Given the description of an element on the screen output the (x, y) to click on. 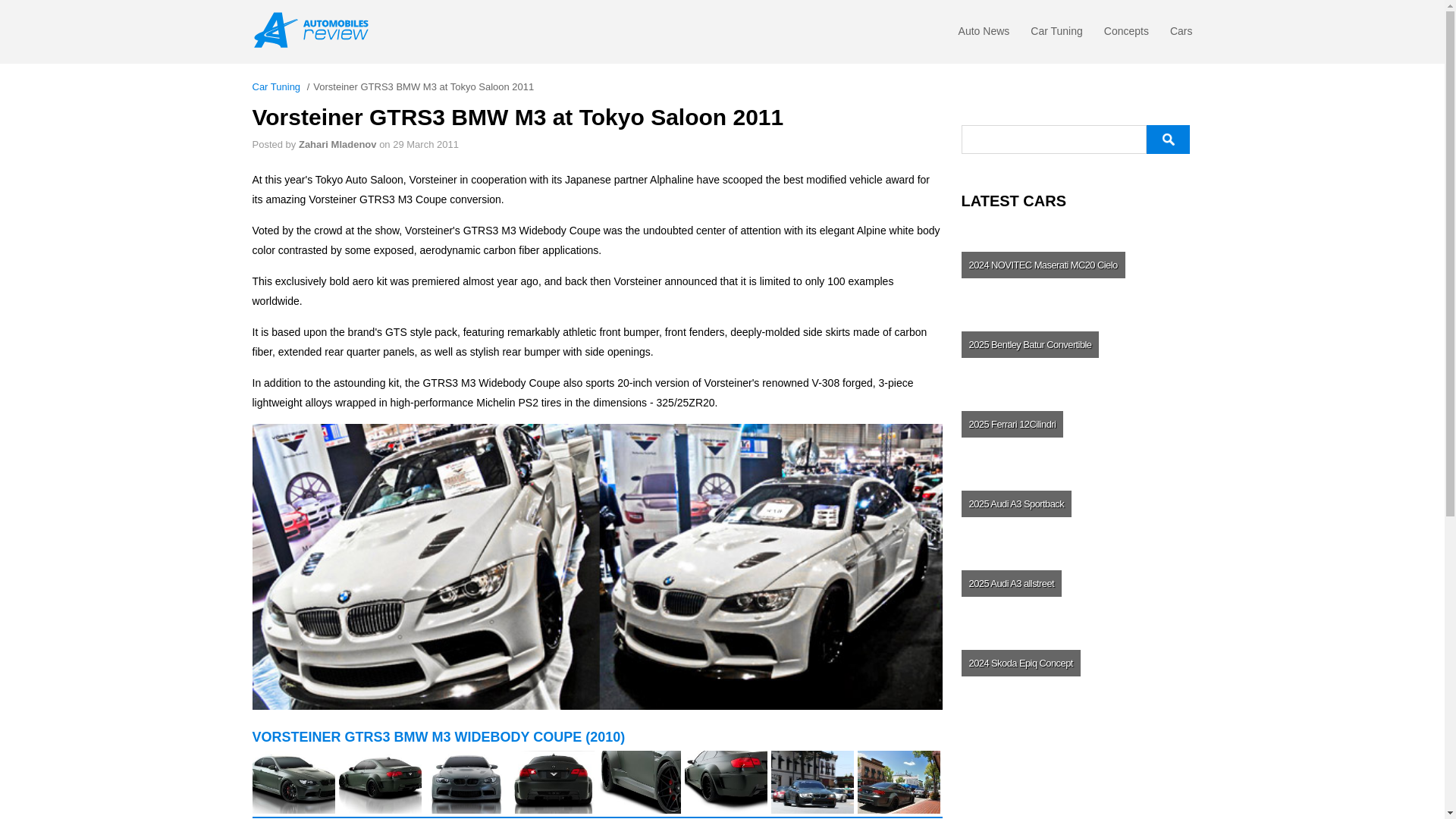
Concepts (1125, 35)
Audi A3 allstreet (1074, 582)
Cars (1181, 35)
Cars (1181, 35)
LATEST CARS (1076, 200)
Automobilesreview.com (315, 30)
Auto News (984, 35)
Concepts (1125, 35)
Car Tuning (1055, 35)
NOVITEC Maserati MC20 Cielo (1074, 264)
